Given the description of an element on the screen output the (x, y) to click on. 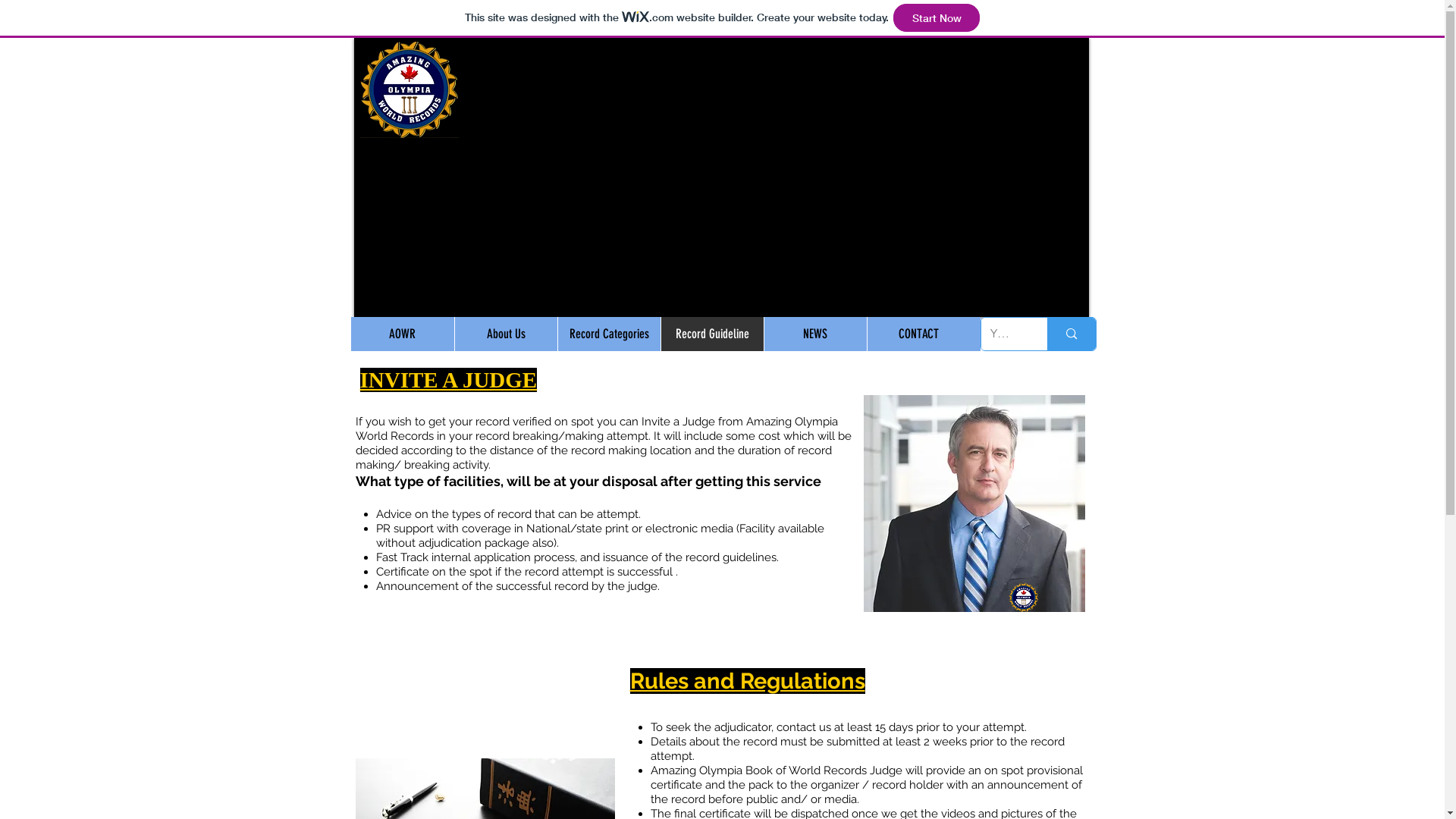
AOWR Element type: text (401, 333)
About Us Element type: text (504, 333)
CONTACT Element type: text (917, 333)
Record Categories Element type: text (607, 333)
Record Guideline Element type: text (710, 333)
NEWS Element type: text (814, 333)
